Given the description of an element on the screen output the (x, y) to click on. 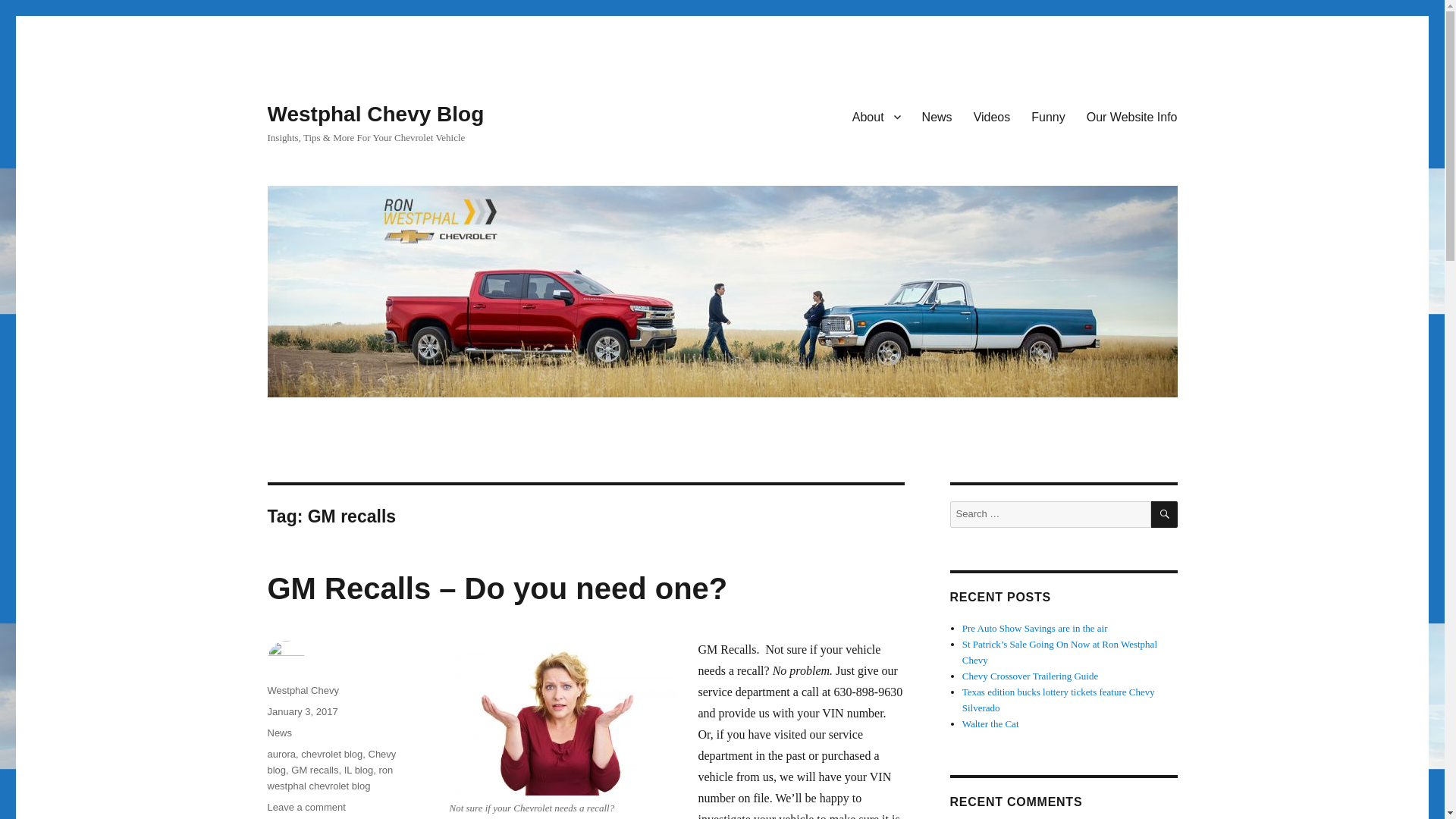
News (279, 732)
News (936, 116)
Walter the Cat (990, 723)
GM recalls (314, 769)
Pre Auto Show Savings are in the air (1035, 627)
Videos (992, 116)
Chevy blog (331, 761)
chevrolet blog (331, 754)
Westphal Chevy Blog (374, 114)
Westphal Chevy (301, 690)
